Given the description of an element on the screen output the (x, y) to click on. 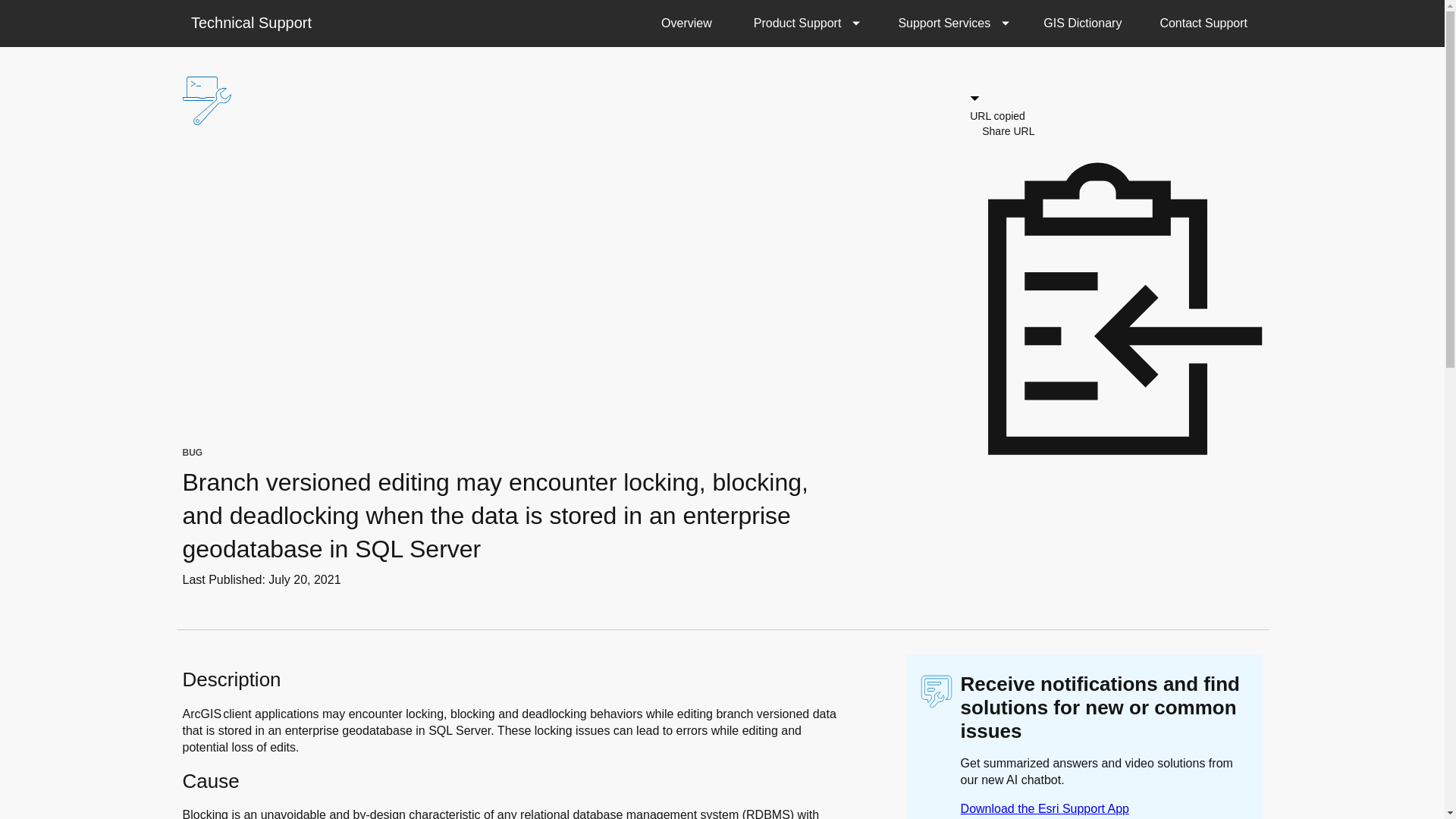
Overview (686, 22)
Technical Support (250, 21)
Product Support (803, 22)
GIS Dictionary (1082, 22)
Contact Support (1203, 22)
Support Services (950, 22)
